Given the description of an element on the screen output the (x, y) to click on. 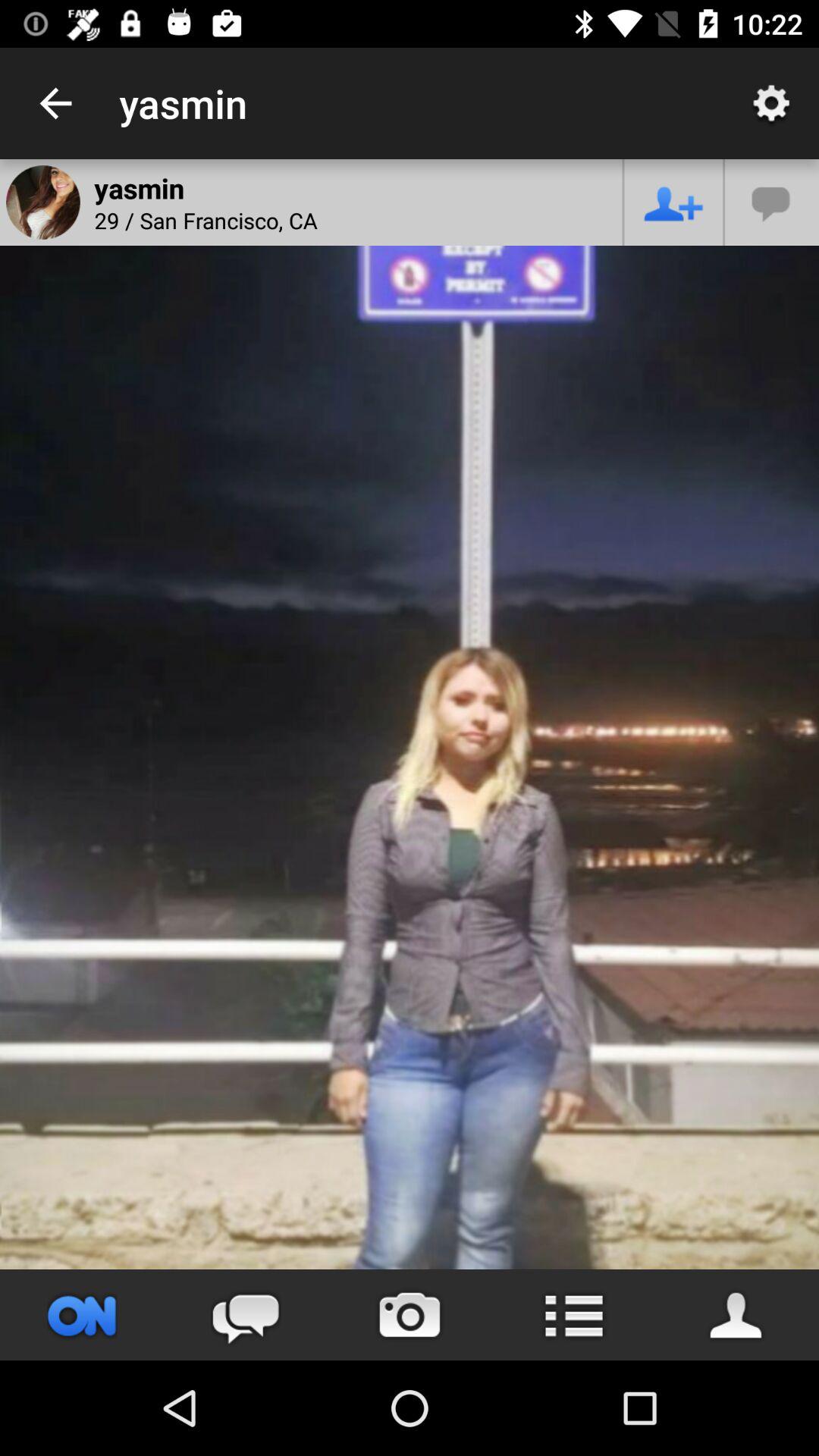
start chatting (245, 1315)
